Given the description of an element on the screen output the (x, y) to click on. 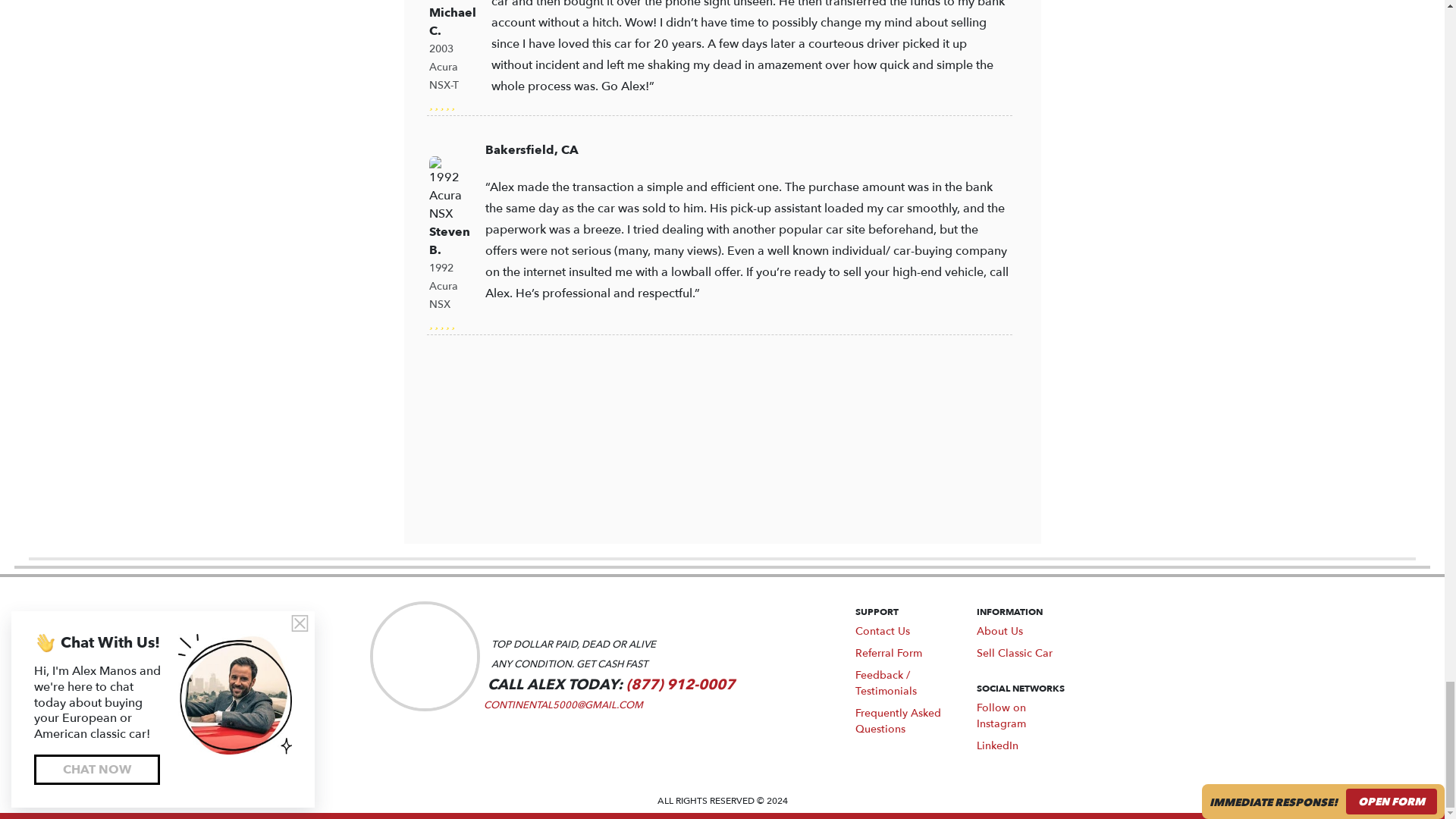
Frequently Asked Questions (898, 720)
Contact Us (883, 631)
About Us (999, 631)
LinkedIn (996, 745)
Sell Classic Car (1014, 653)
Referral Form (888, 653)
Follow on Instagram (1001, 716)
